Given the description of an element on the screen output the (x, y) to click on. 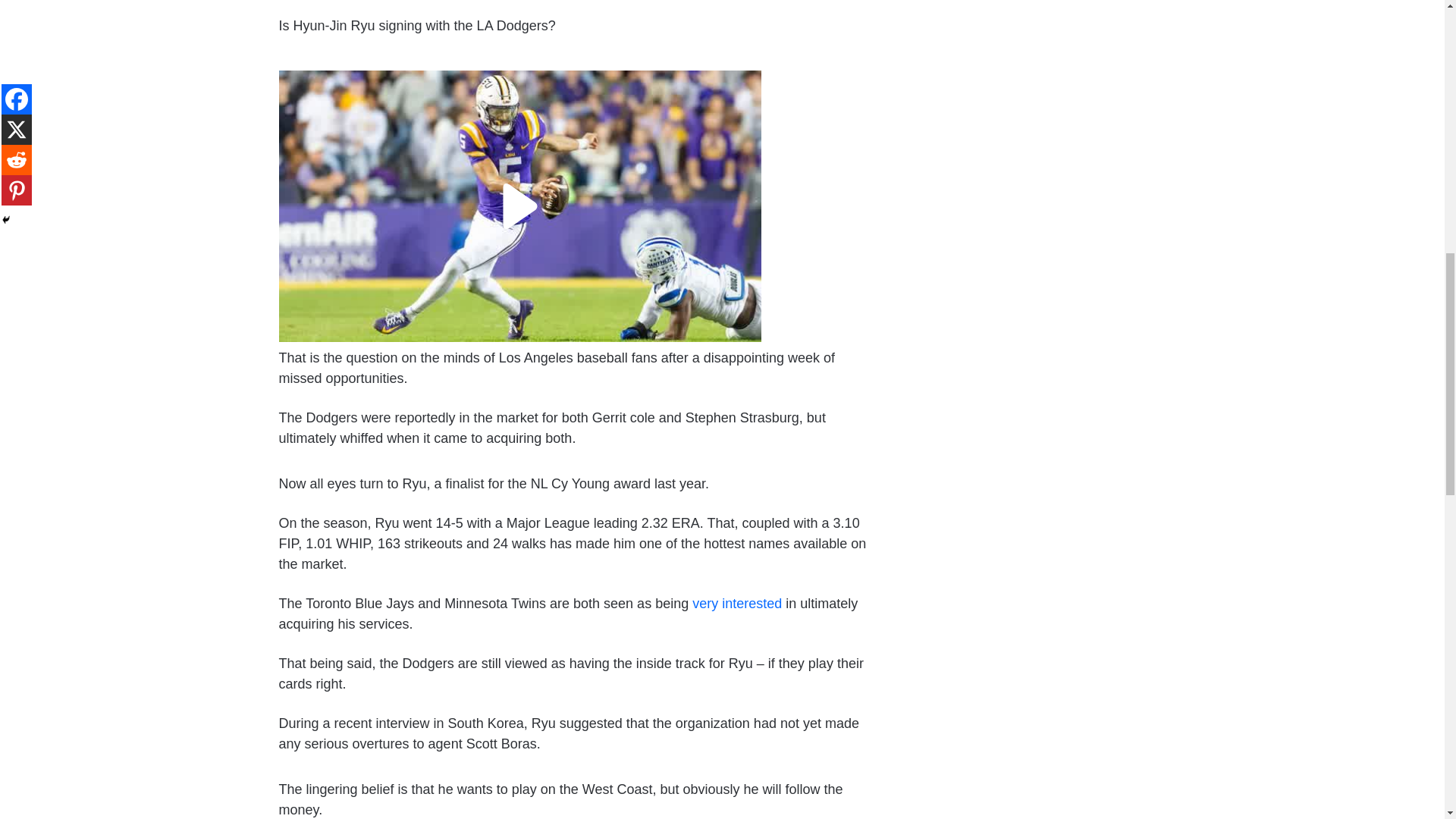
very interested (737, 603)
